Given the description of an element on the screen output the (x, y) to click on. 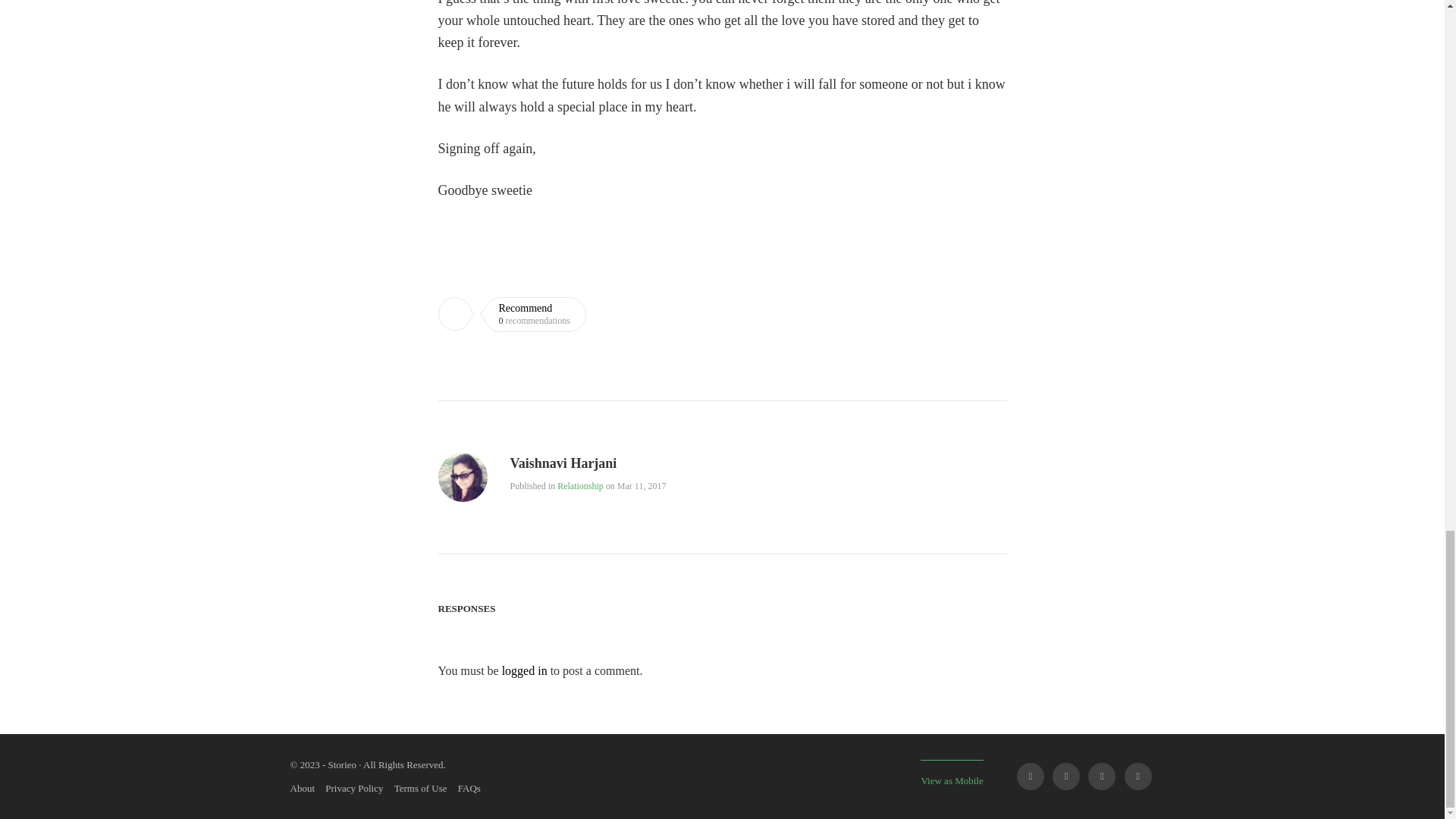
facebook (1029, 776)
View all posts by Vaishnavi Harjani (462, 491)
View as Mobile (951, 773)
Recommend this article (512, 314)
twitter (1066, 776)
instagram (1137, 776)
11:46 pm (641, 485)
linkedin (1101, 776)
View all posts by Vaishnavi Harjani (562, 463)
